Given the description of an element on the screen output the (x, y) to click on. 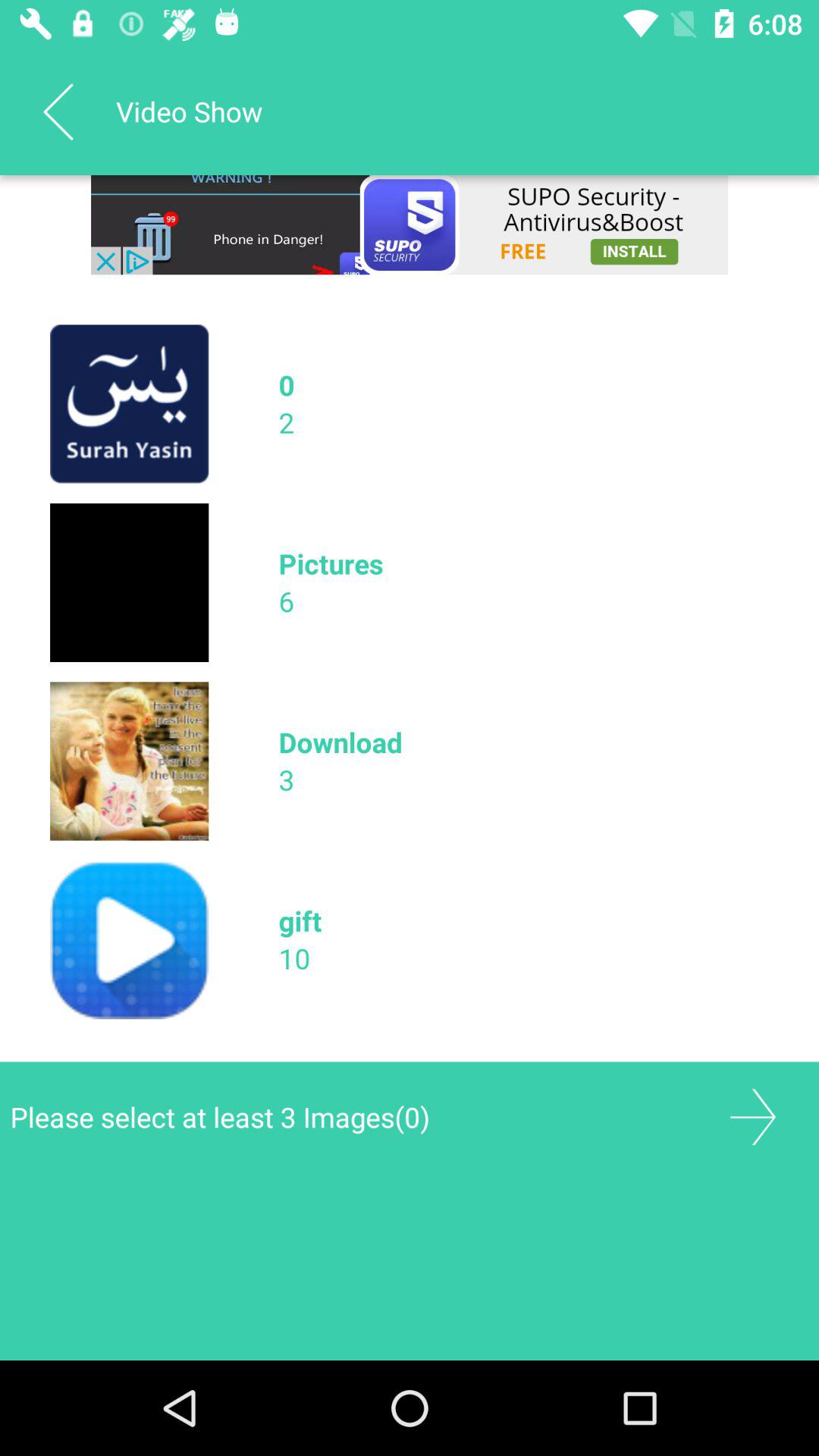
go back (752, 1116)
